Given the description of an element on the screen output the (x, y) to click on. 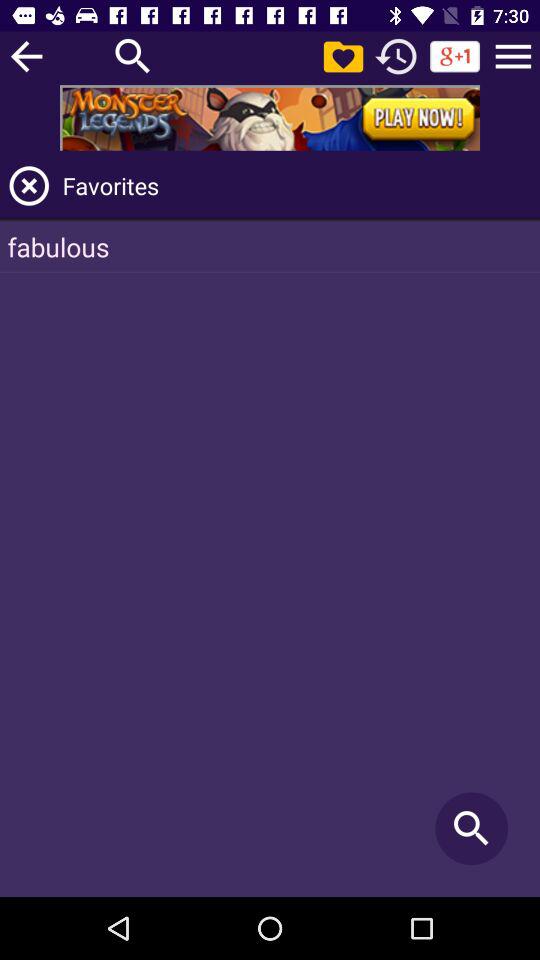
launch app next to the favorites icon (29, 185)
